Given the description of an element on the screen output the (x, y) to click on. 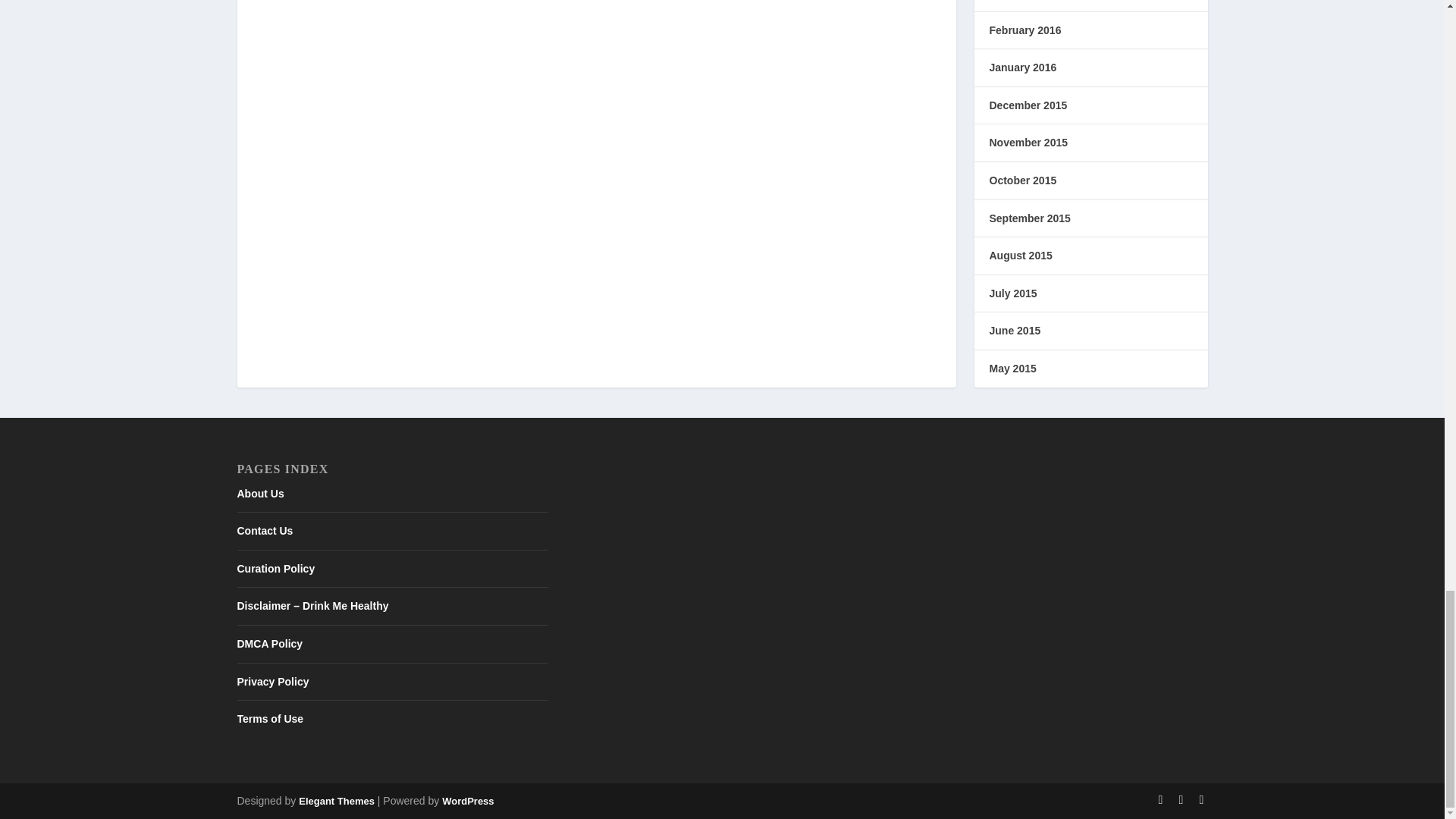
Premium WordPress Themes (336, 800)
